Given the description of an element on the screen output the (x, y) to click on. 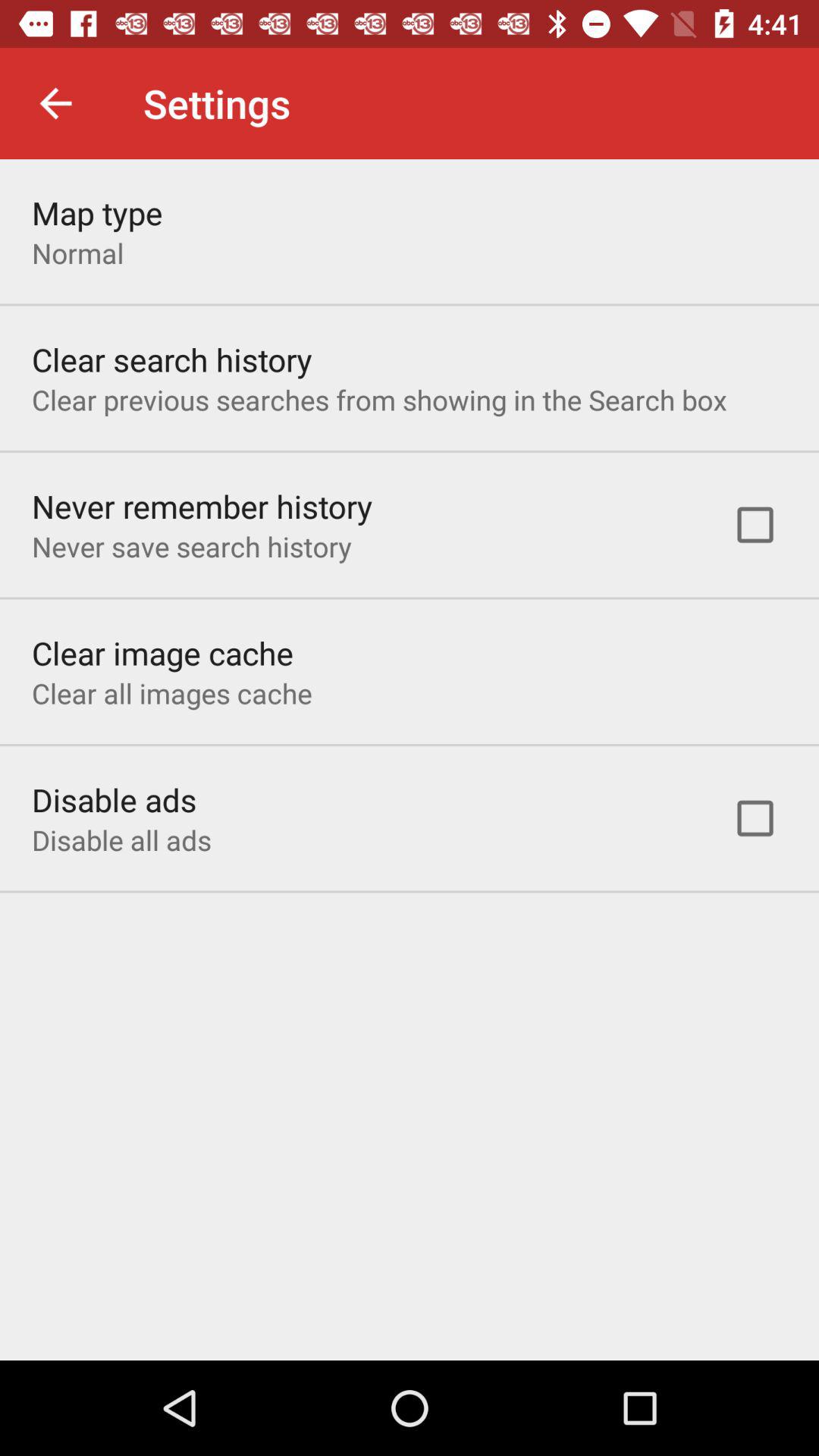
click item above never remember history (378, 399)
